Given the description of an element on the screen output the (x, y) to click on. 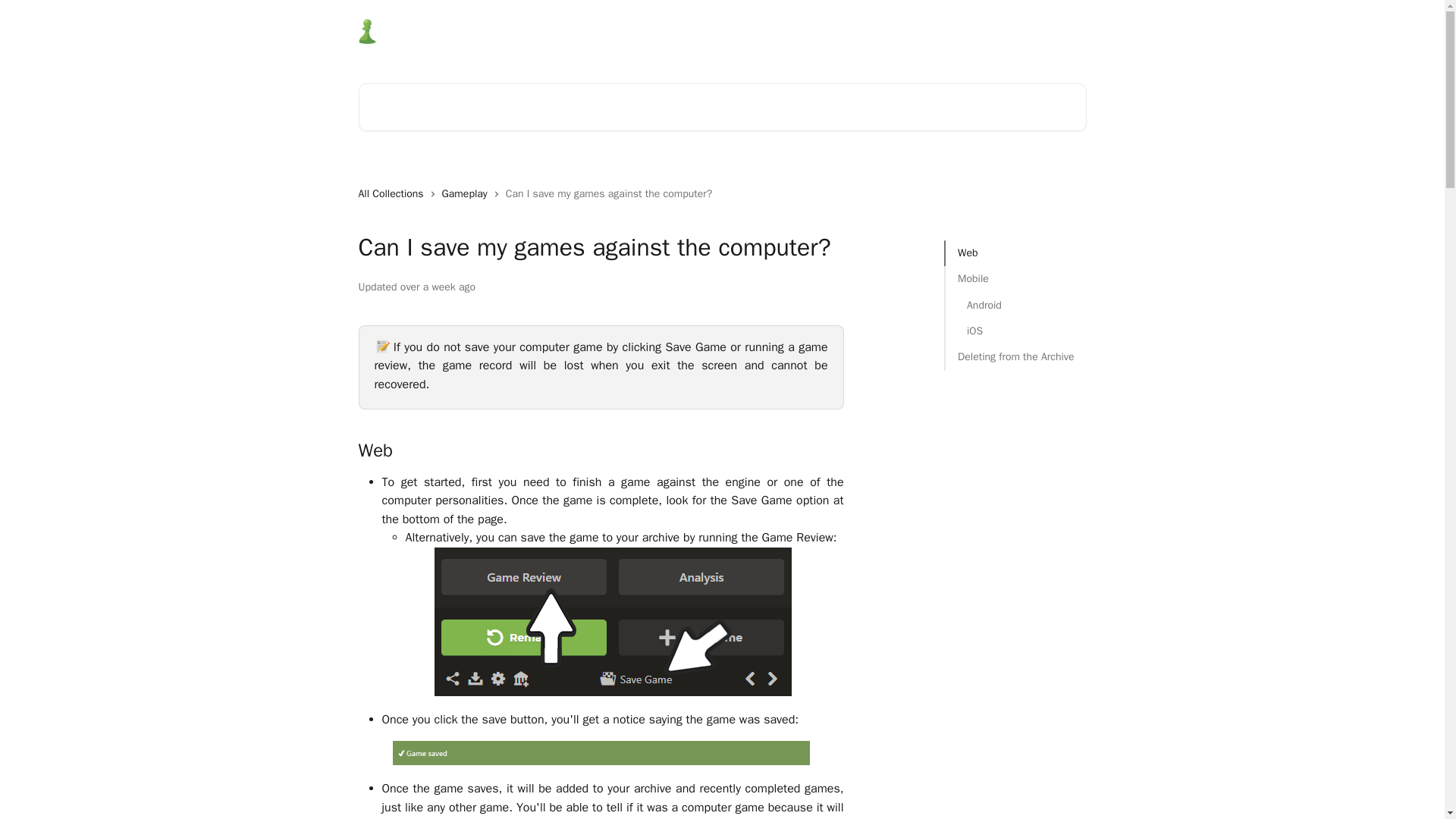
iOS (1015, 330)
Android (1015, 305)
Mobile (1016, 279)
Contact Us (978, 32)
All Collections (393, 193)
Gameplay (467, 193)
Deleting from the Archive (1016, 356)
Web (1016, 252)
